Given the description of an element on the screen output the (x, y) to click on. 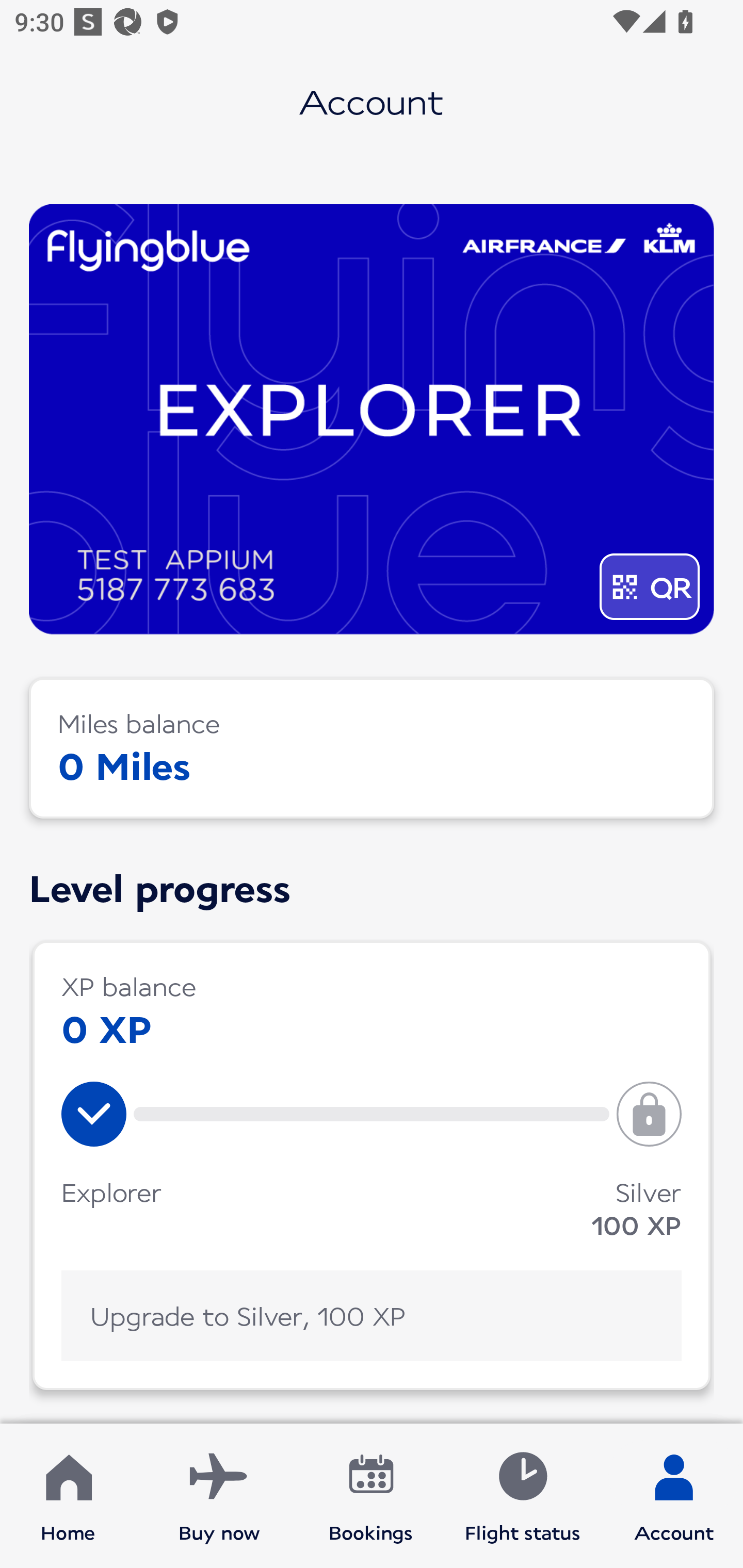
Miles balance 0 Miles (371, 747)
Home (68, 1495)
Buy now (219, 1495)
Bookings (370, 1495)
Flight status (522, 1495)
